Given the description of an element on the screen output the (x, y) to click on. 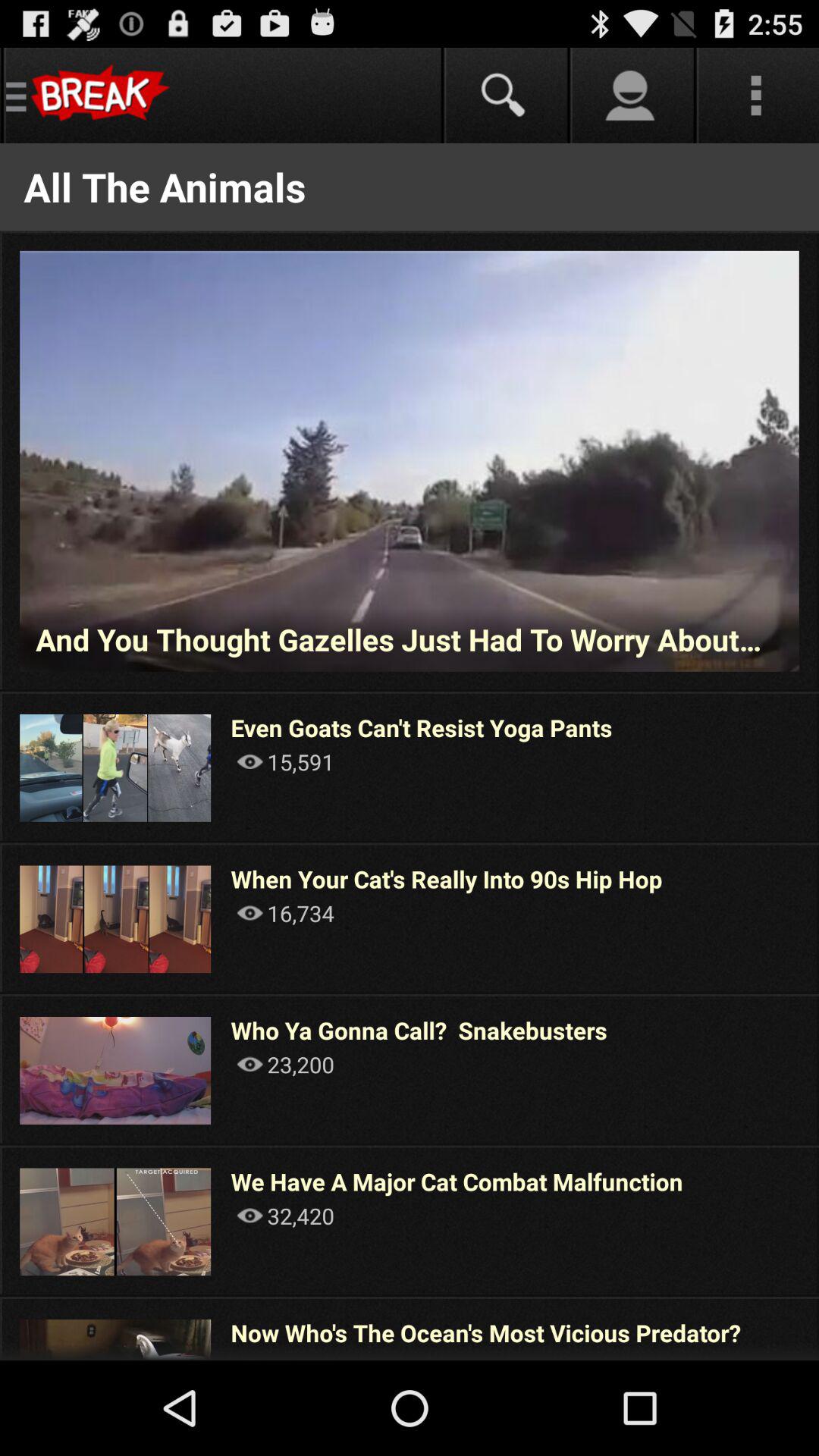
click app below the when your cat (285, 913)
